Given the description of an element on the screen output the (x, y) to click on. 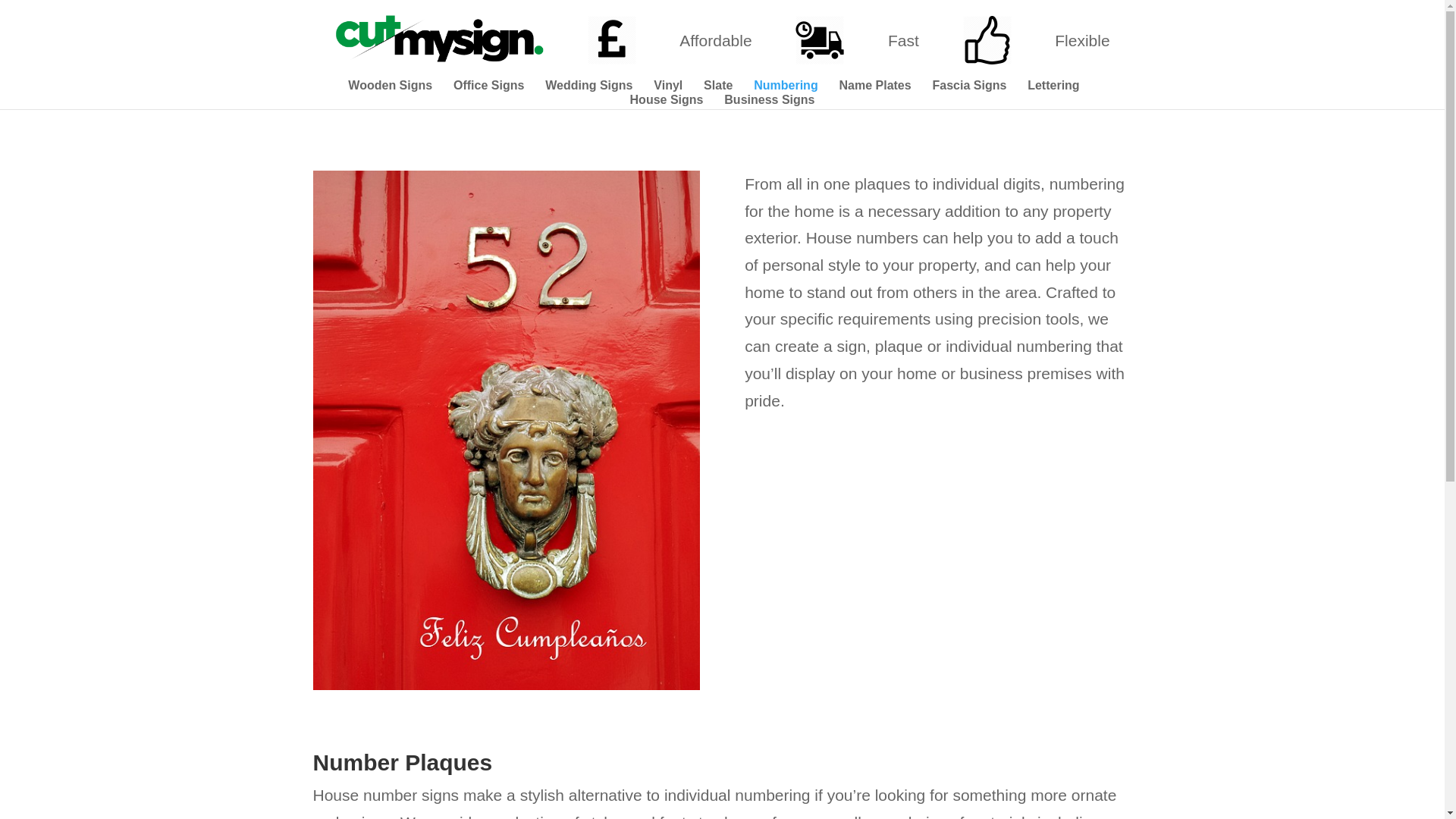
Vinyl (667, 87)
House Signs (666, 101)
Slate (717, 87)
Name Plates (874, 87)
Wooden Signs (389, 87)
Wedding Signs (587, 87)
Fascia Signs (970, 87)
Office Signs (488, 87)
Lettering (1052, 87)
Numbering (785, 87)
Business Signs (768, 101)
